Given the description of an element on the screen output the (x, y) to click on. 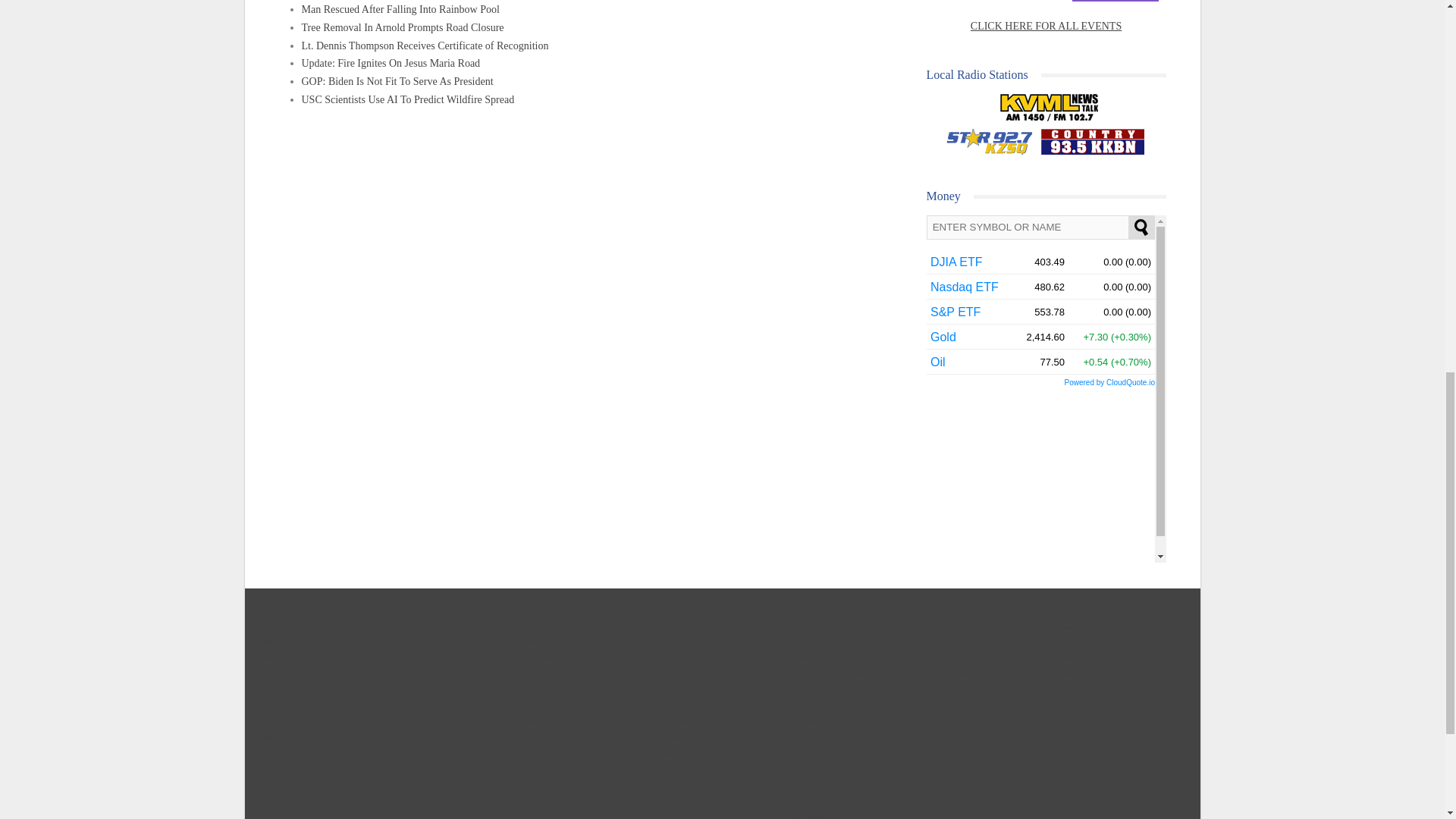
Add An Event (1114, 1)
